Given the description of an element on the screen output the (x, y) to click on. 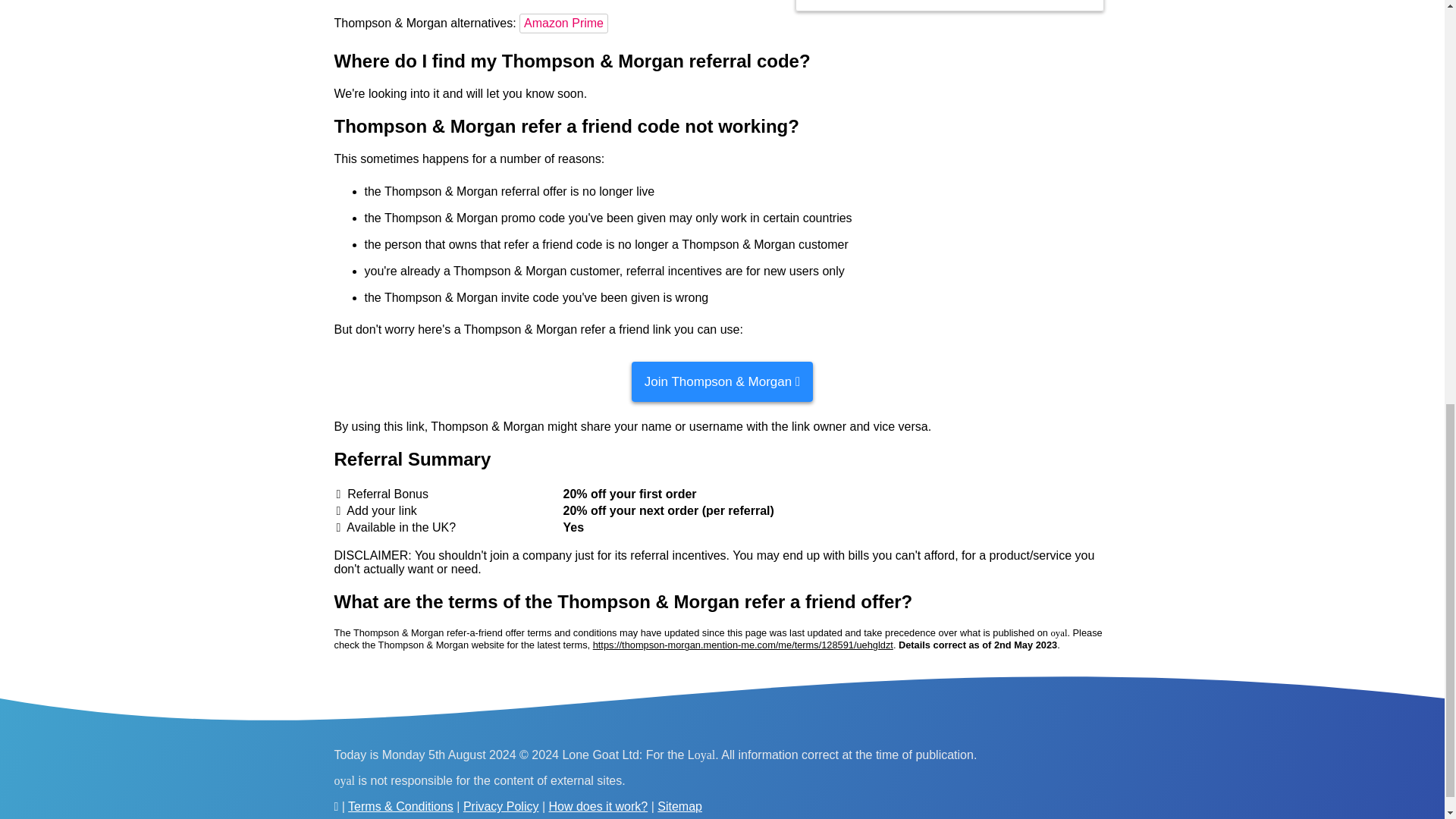
Amazon Prime (565, 22)
Sitemap (679, 806)
How does it work? (597, 806)
Privacy Policy (500, 806)
